Given the description of an element on the screen output the (x, y) to click on. 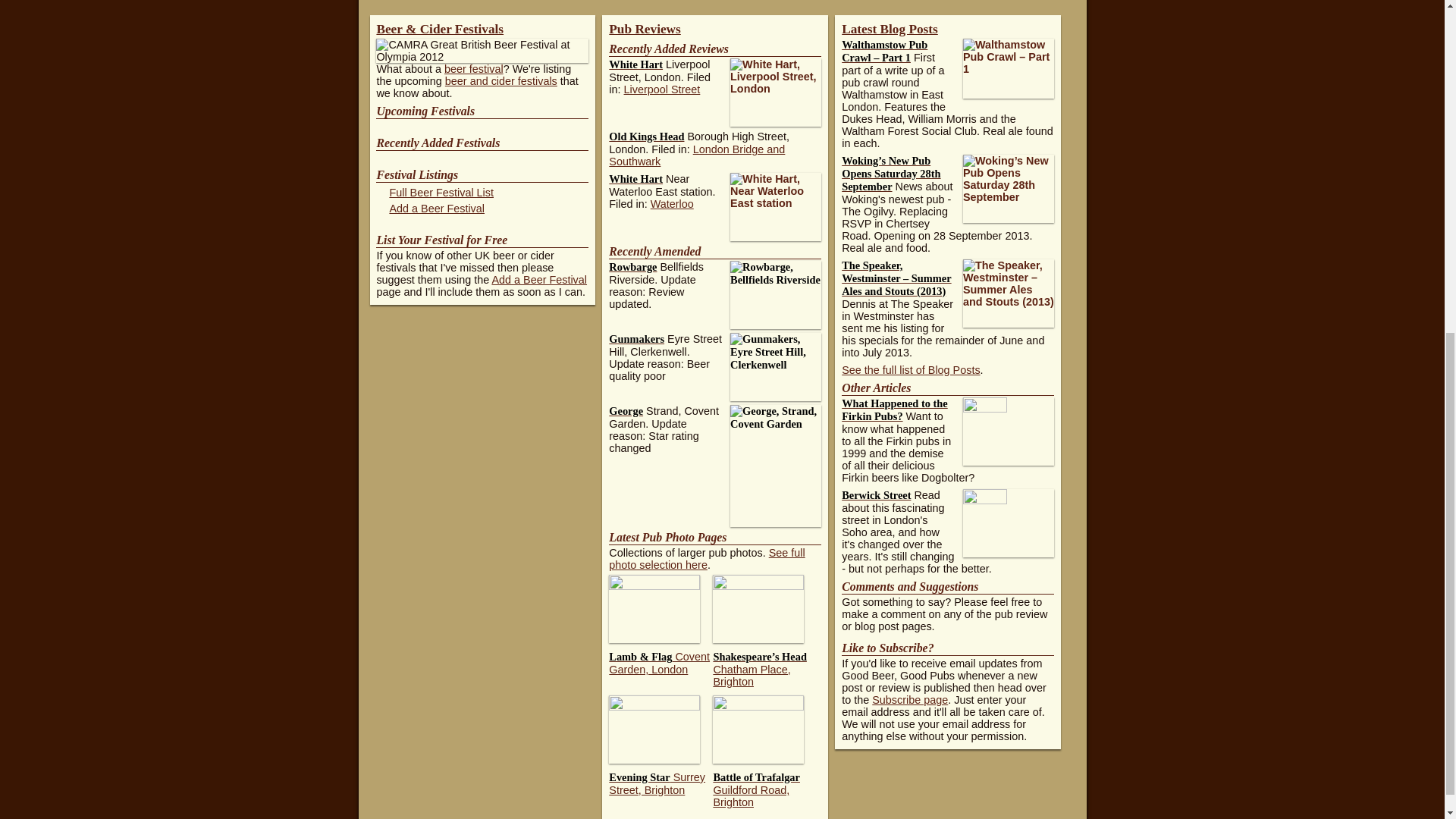
Full Beer Festival List (440, 192)
beer festival (473, 69)
beer and cider festivals (501, 80)
